Given the description of an element on the screen output the (x, y) to click on. 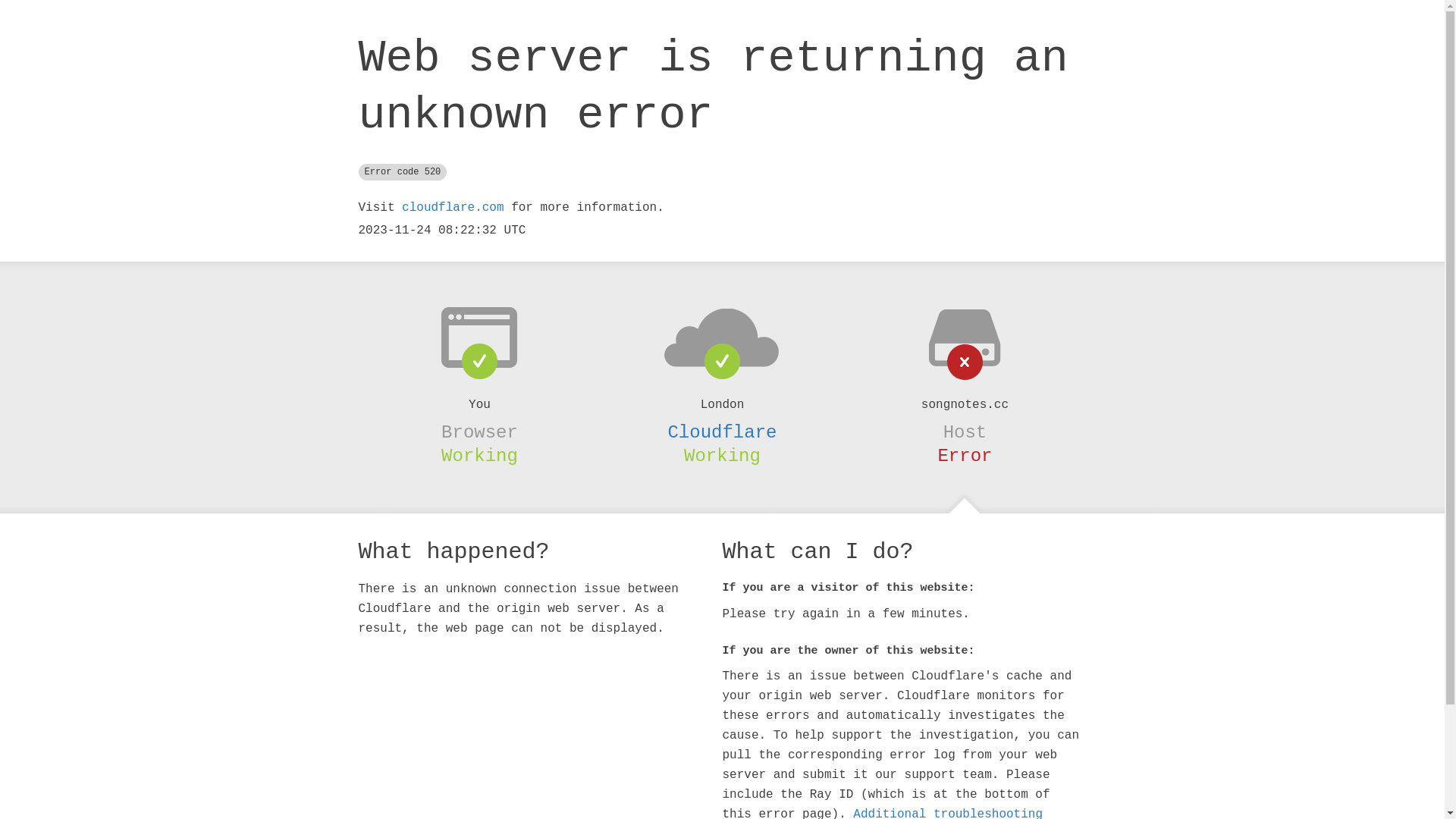
Cloudflare Element type: text (721, 432)
cloudflare.com Element type: text (452, 207)
